Given the description of an element on the screen output the (x, y) to click on. 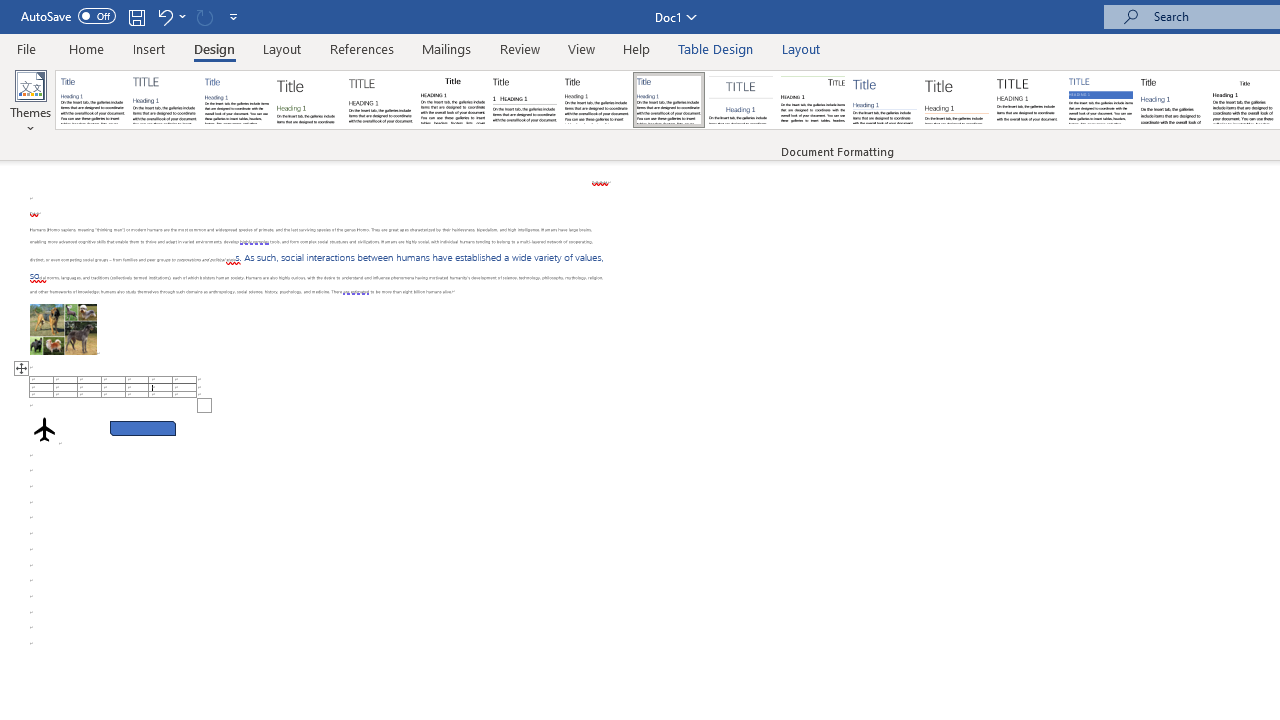
Lines (Stylish) (957, 100)
Black & White (Numbered) (524, 100)
Themes (30, 102)
Basic (Stylish) (308, 100)
Lines (Distinctive) (812, 100)
